Given the description of an element on the screen output the (x, y) to click on. 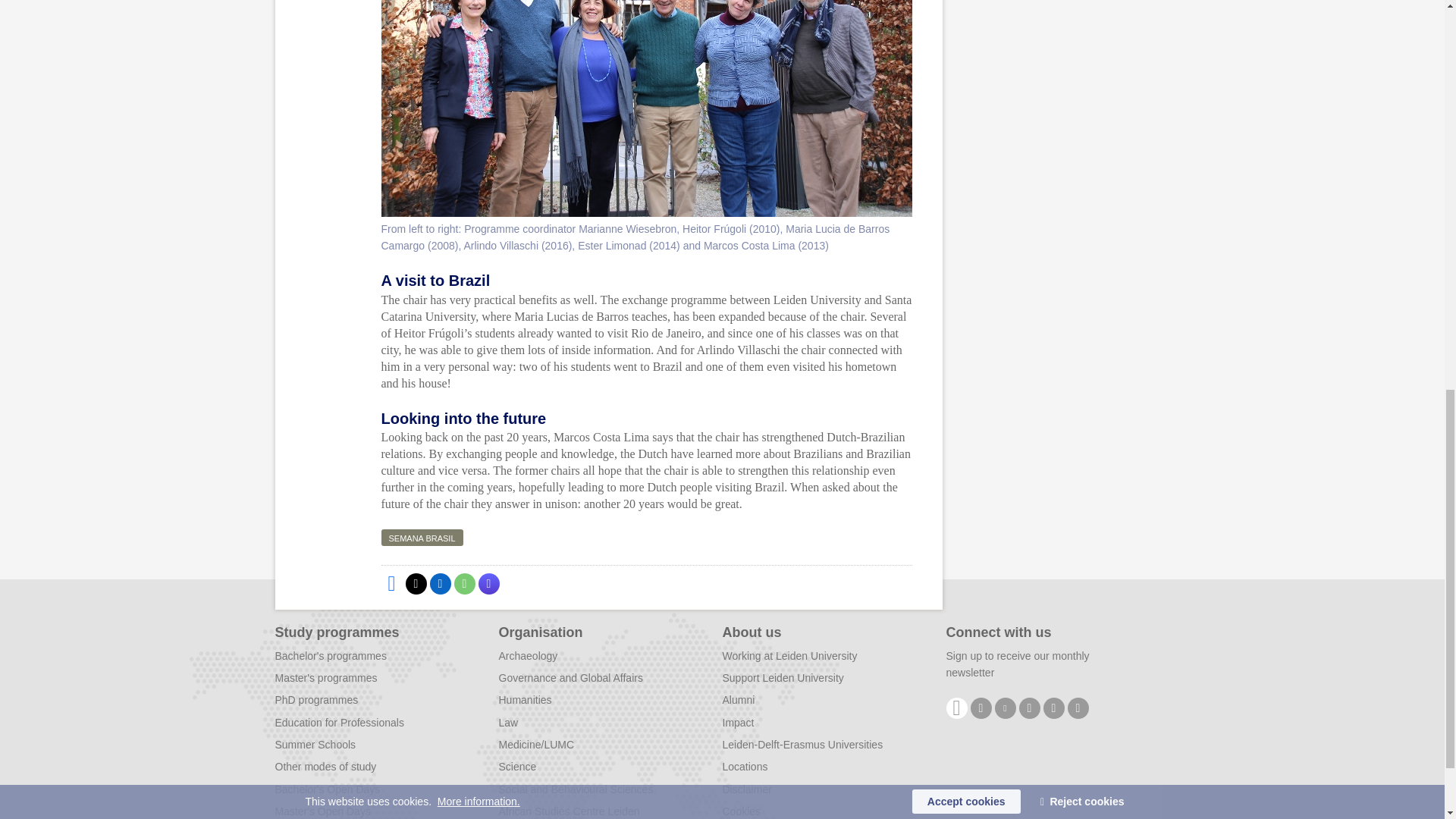
Share on Facebook (390, 583)
SEMANA BRASIL (421, 537)
Share on X (415, 583)
Share on LinkedIn (439, 583)
Share by Mastodon (488, 583)
Share by WhatsApp (463, 583)
